Given the description of an element on the screen output the (x, y) to click on. 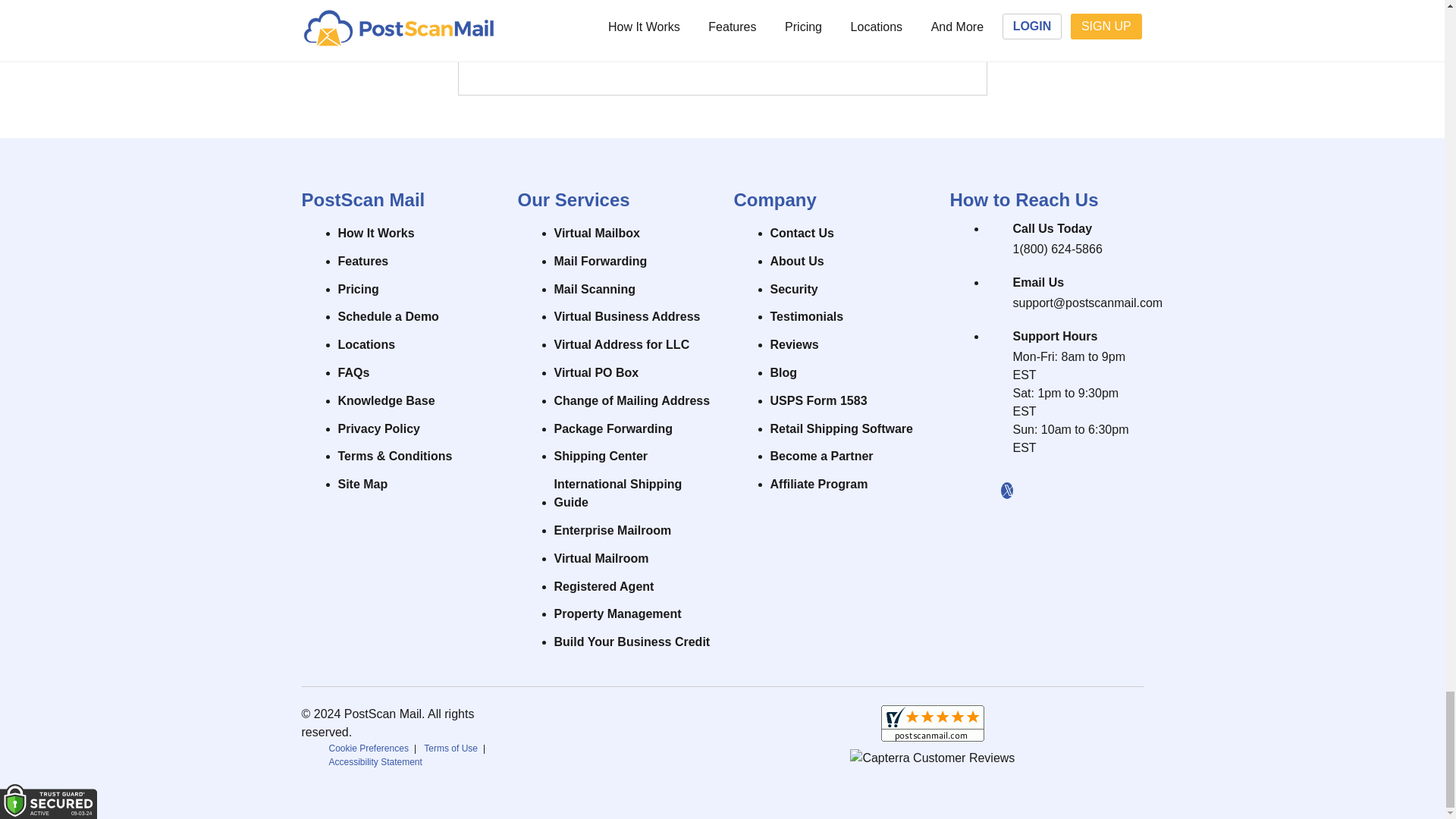
PostScanMail huawei App (763, 736)
PostScanMail Android App (668, 736)
PostScanMail IOS App (573, 736)
